Given the description of an element on the screen output the (x, y) to click on. 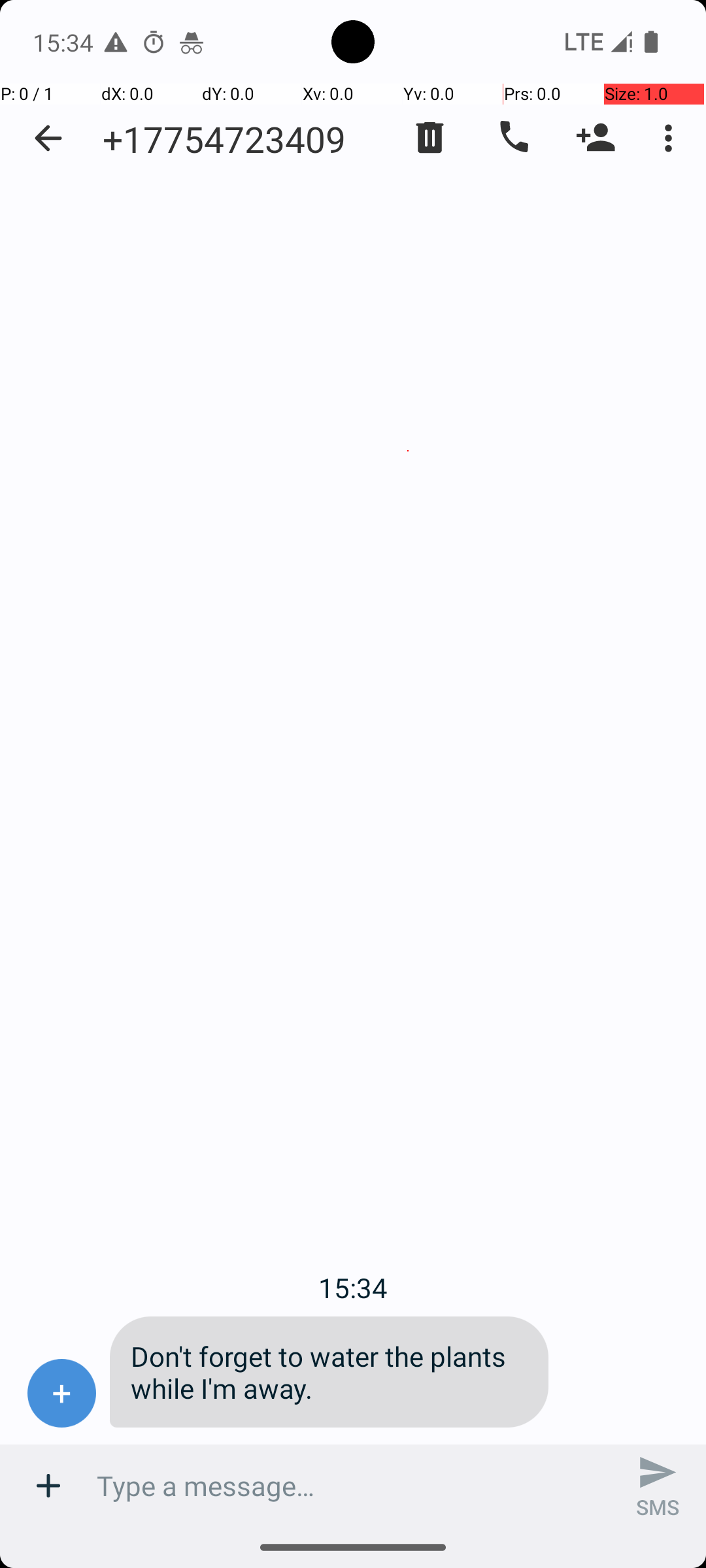
+17754723409 Element type: android.widget.TextView (223, 138)
Dial number Element type: android.widget.Button (512, 137)
Add Person Element type: android.widget.Button (595, 137)
Attachment Element type: android.widget.ImageView (48, 1485)
Type a message… Element type: android.widget.EditText (352, 1485)
SMS Element type: android.widget.Button (657, 1485)
Don't forget to water the plants while I'm away. Element type: android.widget.TextView (328, 1371)
